Given the description of an element on the screen output the (x, y) to click on. 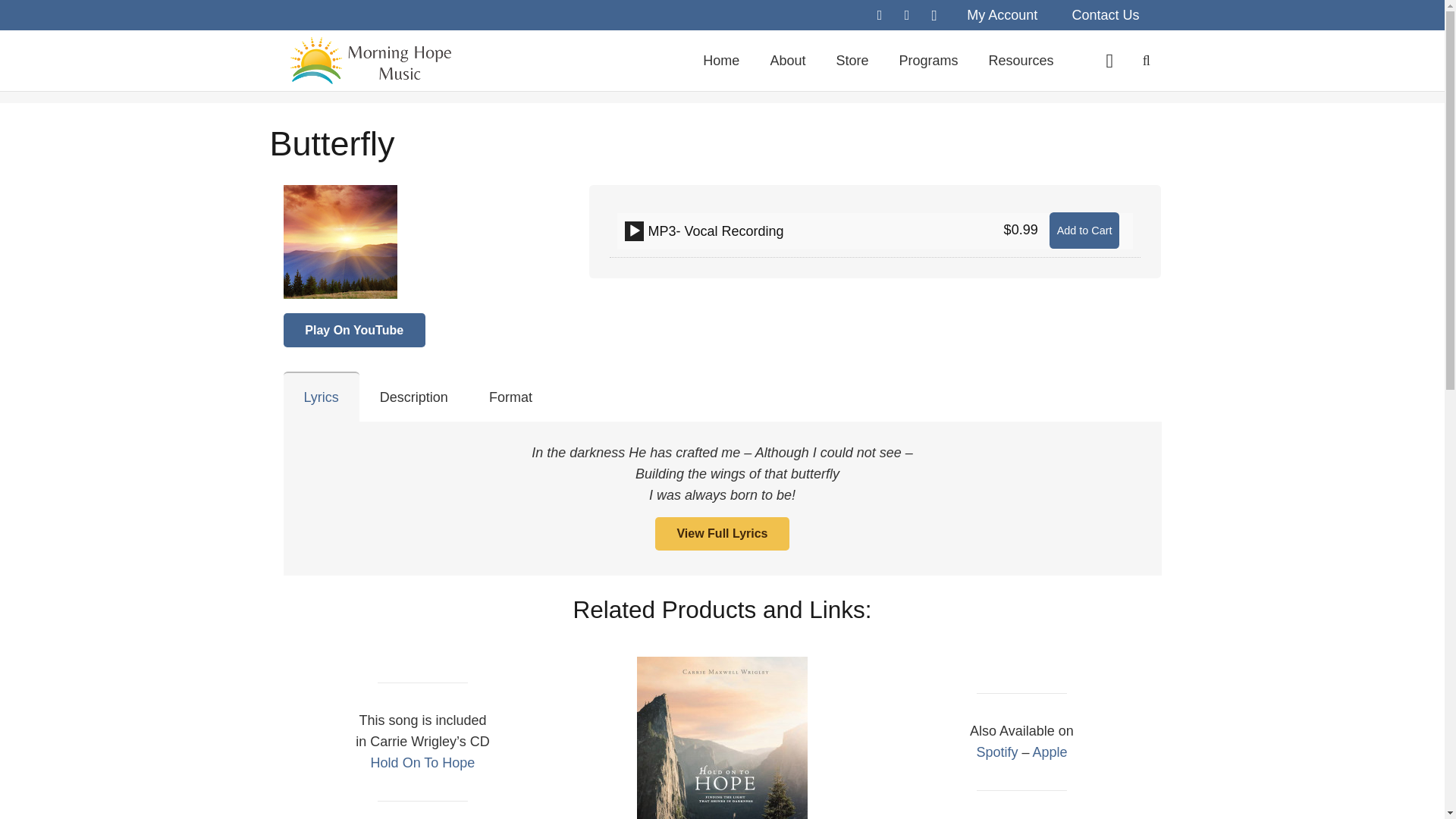
My Account (1001, 14)
Home (720, 60)
Play (634, 231)
Facebook (879, 14)
Resources (1020, 60)
150ForestSunrise (340, 241)
Store (852, 60)
About (787, 60)
Contact Us (1104, 14)
YouTube (906, 14)
Programs (927, 60)
Instagram (933, 14)
